Given the description of an element on the screen output the (x, y) to click on. 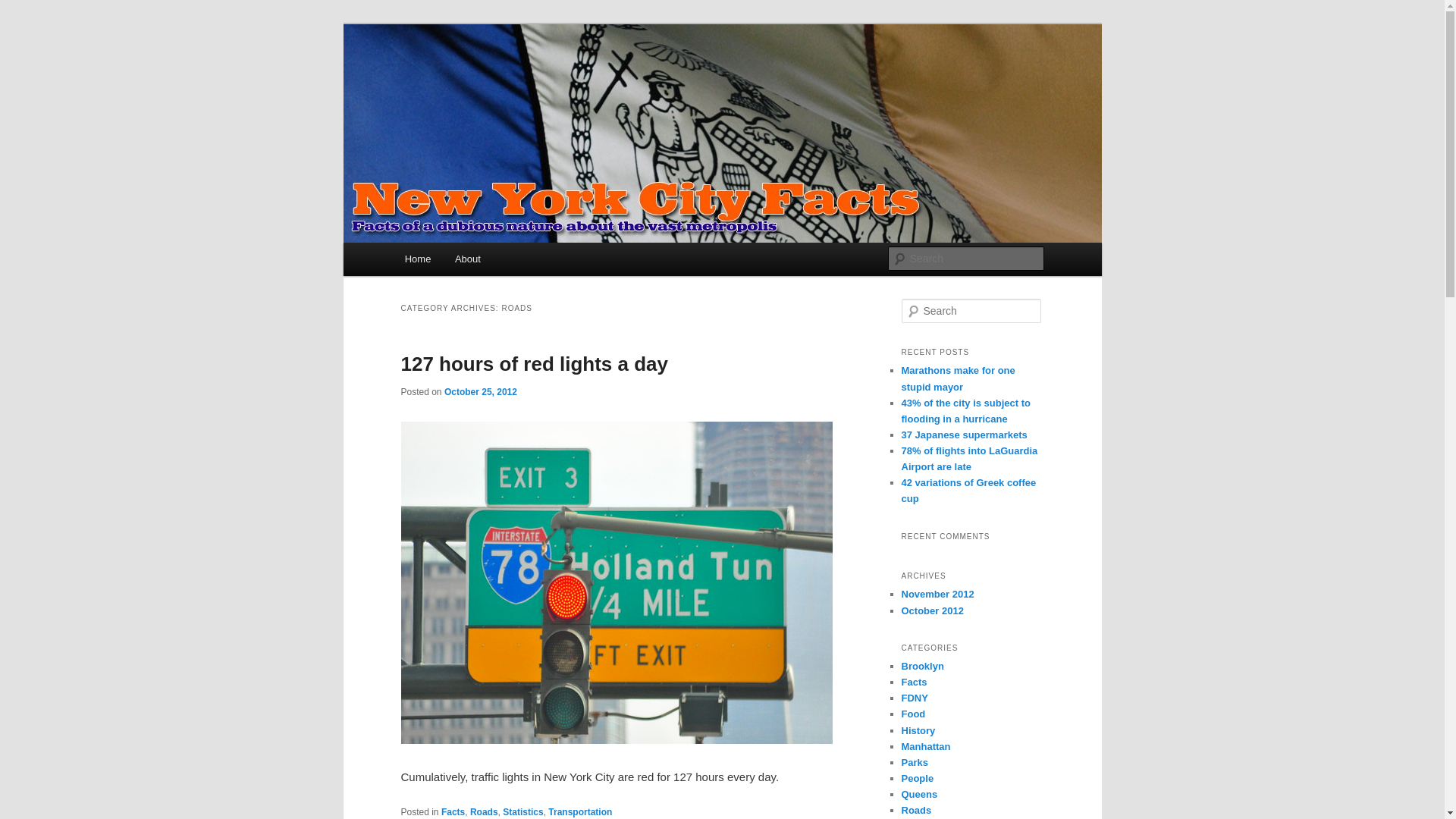
Skip to primary content (472, 261)
Skip to secondary content (479, 261)
Red Light before Exit 3 by Triborough, on Flickr (615, 739)
Search (24, 8)
Permalink to 127 hours of red lights a day (534, 363)
Home (417, 258)
October 25, 2012 (480, 391)
127 hours of red lights a day (534, 363)
Skip to secondary content (479, 261)
About (467, 258)
